Given the description of an element on the screen output the (x, y) to click on. 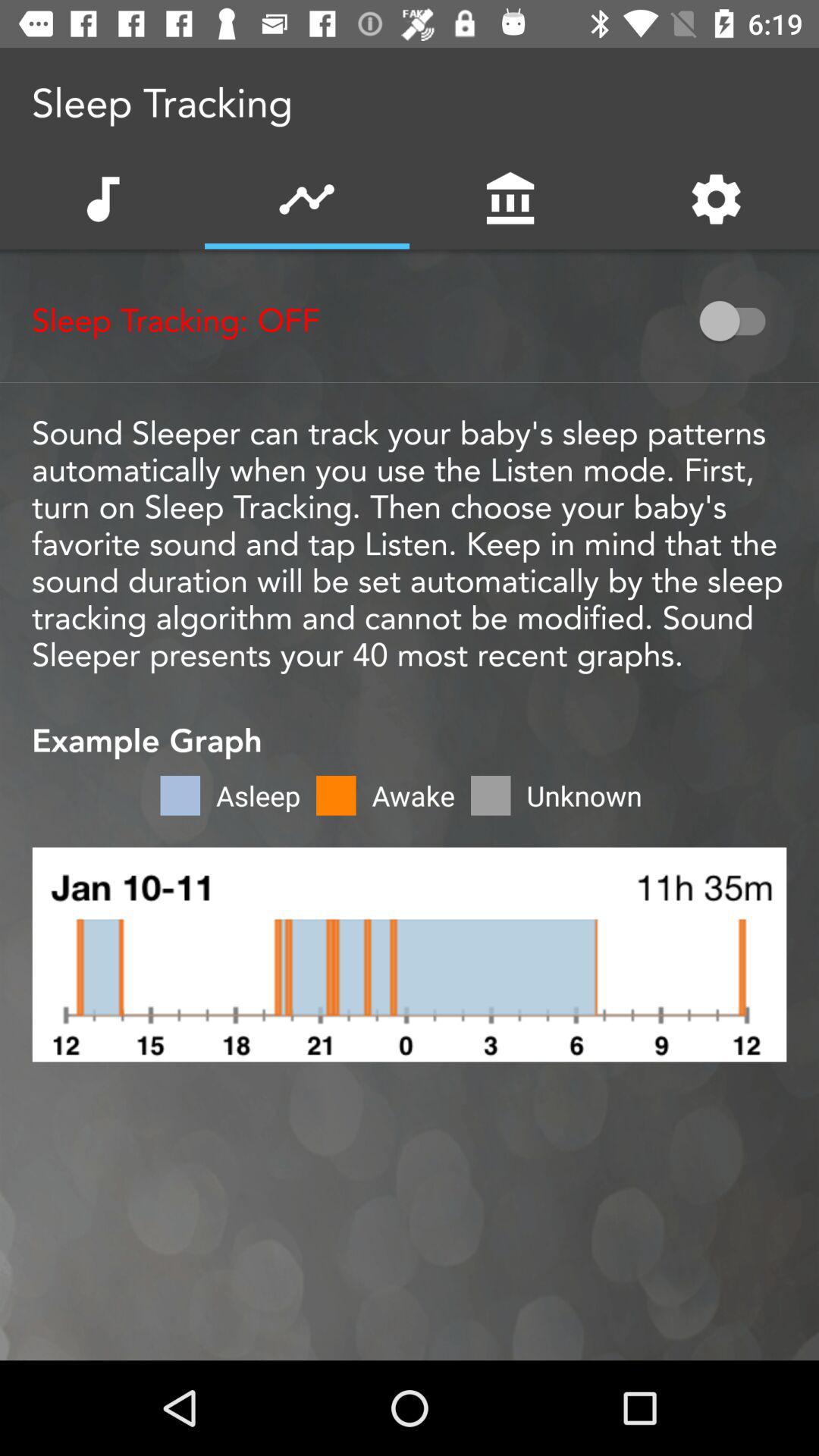
toggle on (739, 321)
